Given the description of an element on the screen output the (x, y) to click on. 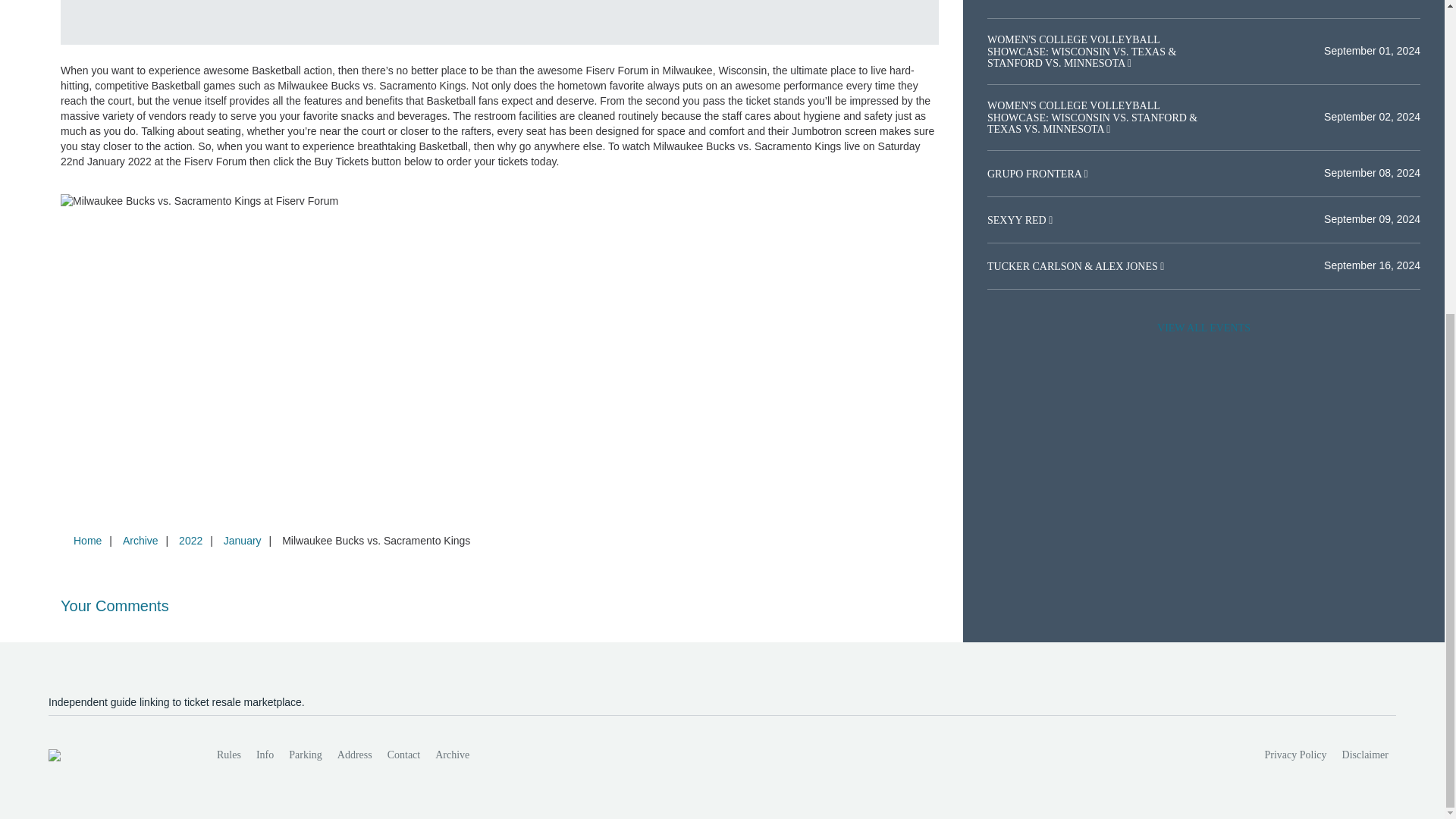
Parking (305, 755)
January (242, 540)
Milwaukee Bucks vs. Sacramento Kings at Fiserv Forum (800, 22)
Contact (404, 755)
Address (355, 755)
Info (264, 755)
Milwaukee Bucks vs. Sacramento Kings at Fiserv Forum tickets (500, 201)
2022 (190, 540)
Archive (140, 540)
VIEW ALL EVENTS (1203, 328)
